Given the description of an element on the screen output the (x, y) to click on. 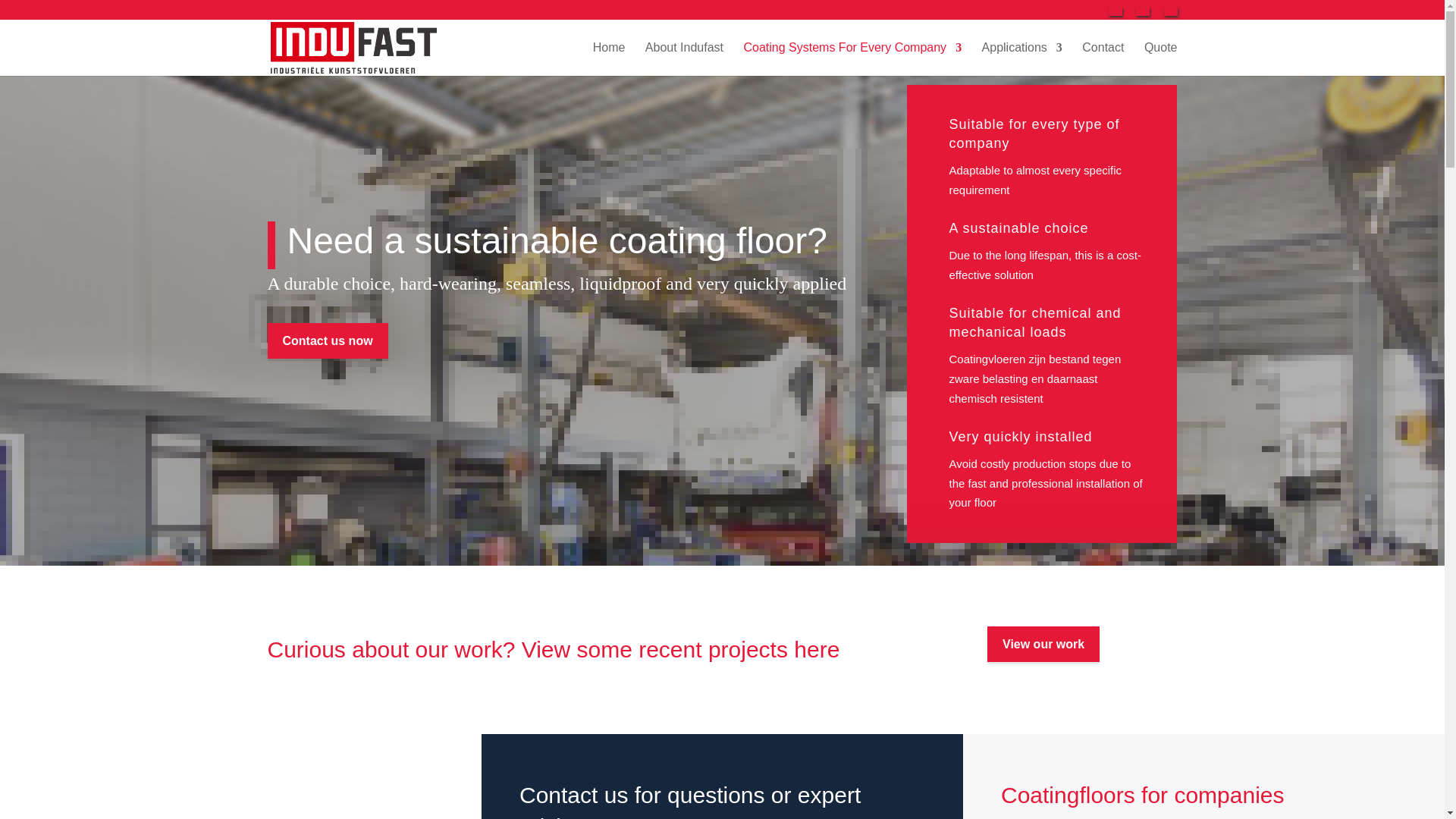
About Indufast (684, 59)
Home (609, 59)
Applications (1021, 59)
Contact (1102, 59)
Coating Systems For Every Company (851, 59)
Quote (1160, 59)
